Given the description of an element on the screen output the (x, y) to click on. 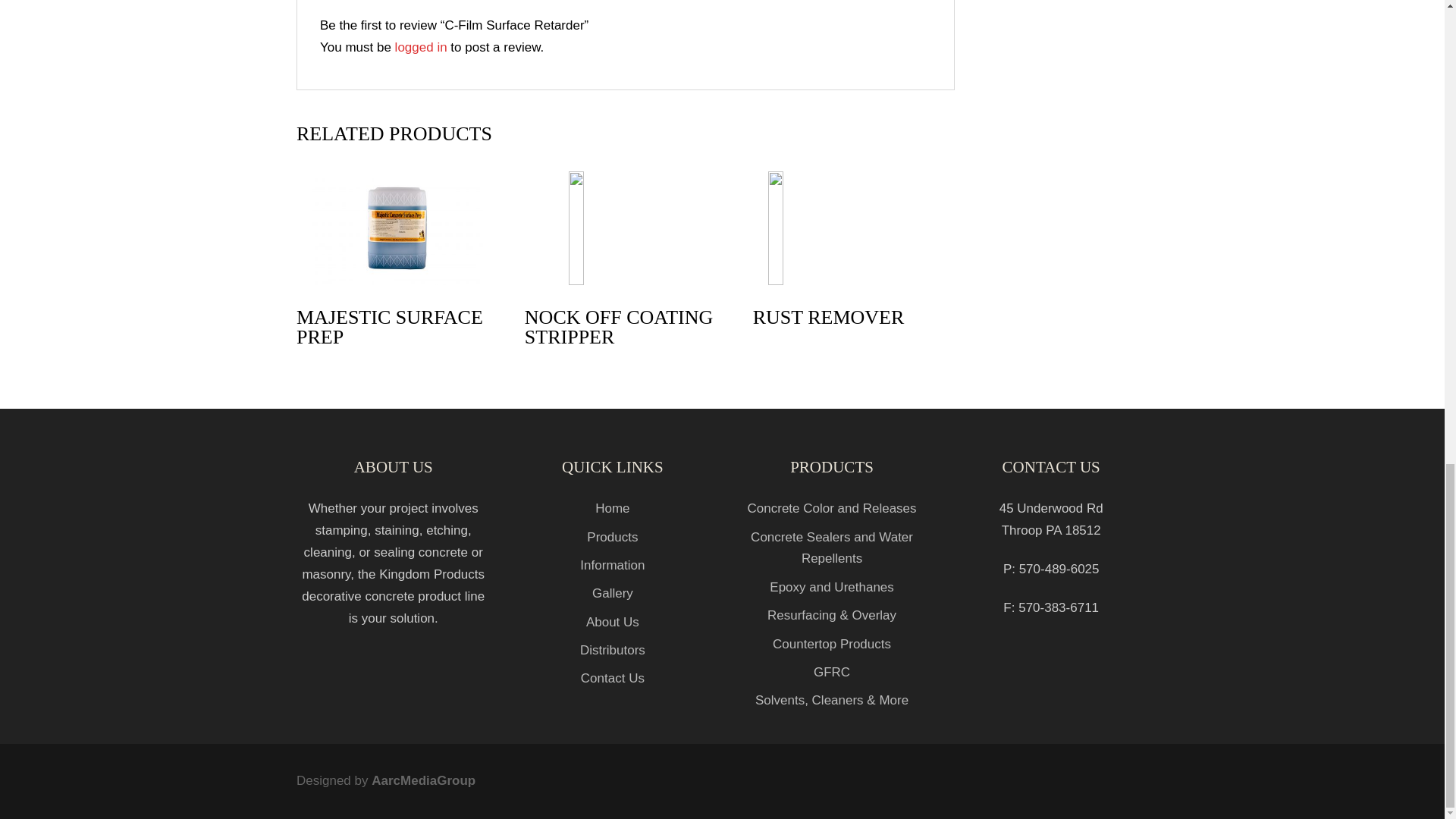
Information (612, 564)
RUST REMOVER (853, 254)
NOCK OFF COATING STRIPPER (625, 264)
Gallery (612, 593)
Products (611, 536)
Contact Us (612, 677)
MAJESTIC SURFACE PREP (397, 264)
Home (611, 508)
logged in (420, 47)
Custom Web Design (423, 780)
Distributors (612, 649)
About Us (612, 622)
